Given the description of an element on the screen output the (x, y) to click on. 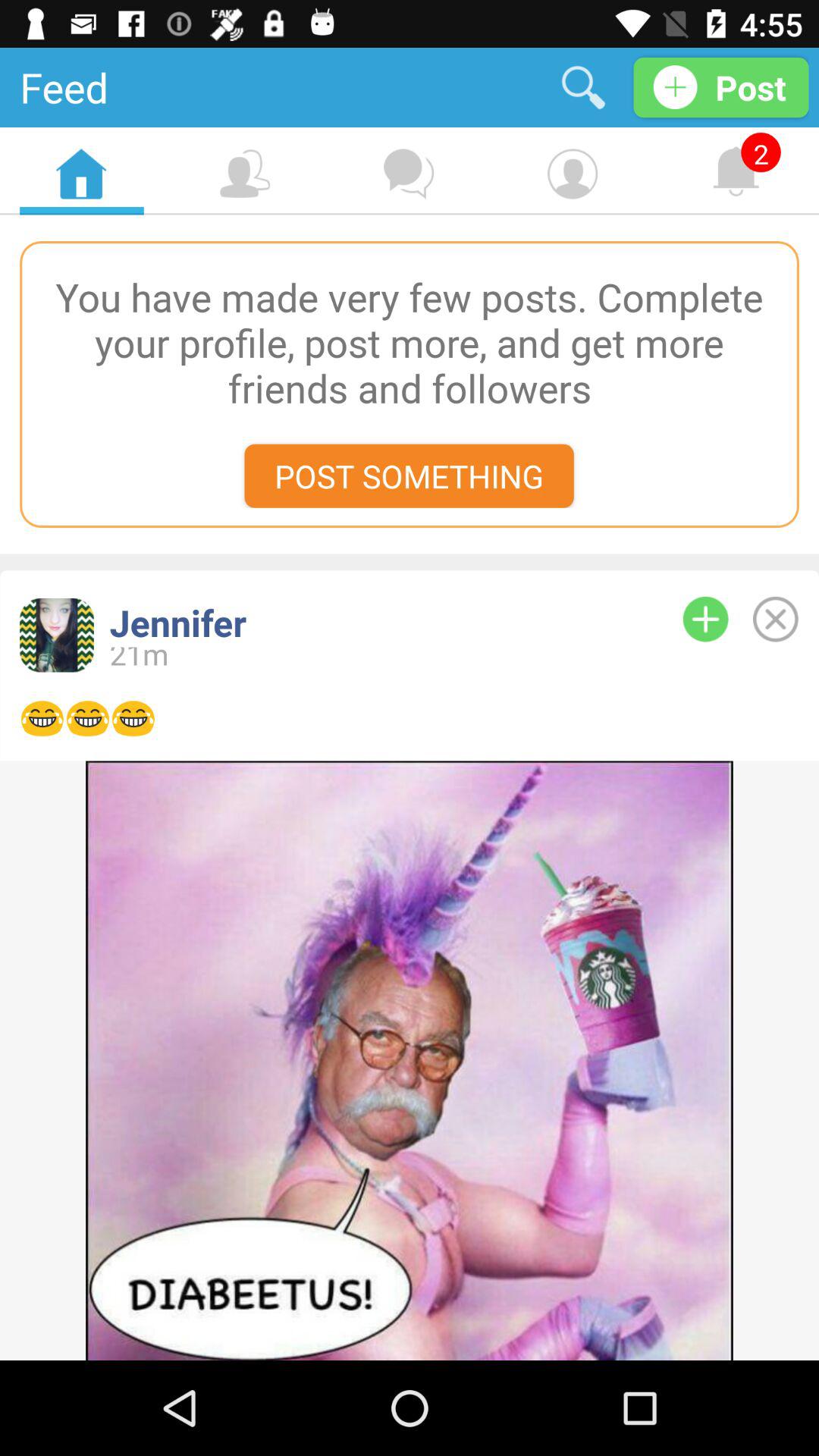
turn off item to the left of post item (583, 87)
